Given the description of an element on the screen output the (x, y) to click on. 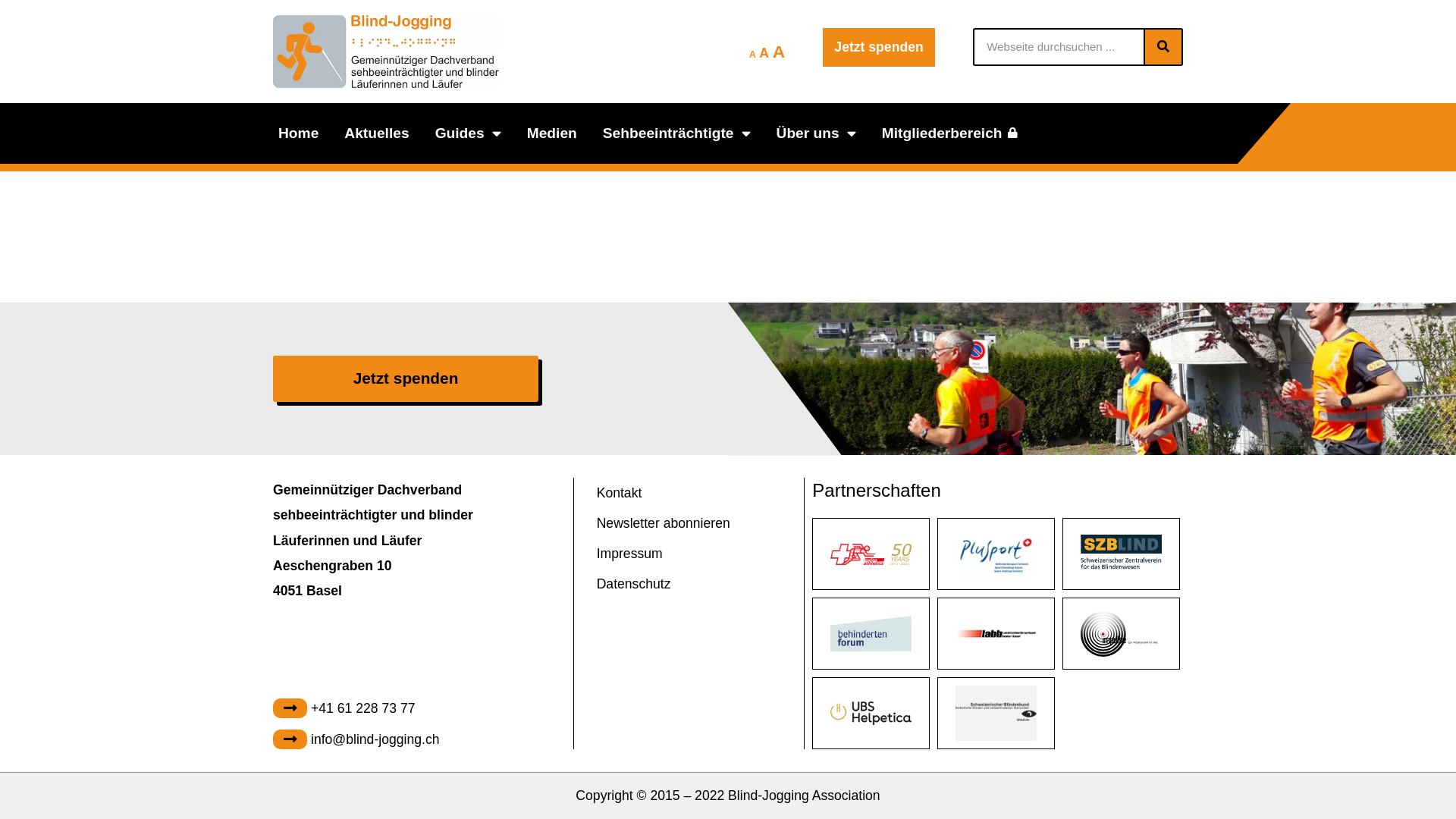
Guides Element type: text (468, 133)
Medien Element type: text (551, 133)
info@blind-jogging.ch Element type: text (356, 739)
+41 61 228 73 77 Element type: text (356, 708)
Mitgliederbereich Element type: text (949, 133)
Aktuelles Element type: text (376, 133)
Home Element type: text (298, 133)
Jetzt spenden Element type: text (405, 378)
A Element type: text (778, 50)
A Element type: text (763, 52)
Datenschutz Element type: text (663, 583)
Impressum Element type: text (663, 553)
Jetzt spenden Element type: text (878, 47)
A Element type: text (752, 53)
Newsletter abonnieren Element type: text (663, 523)
Kontakt Element type: text (663, 492)
